Given the description of an element on the screen output the (x, y) to click on. 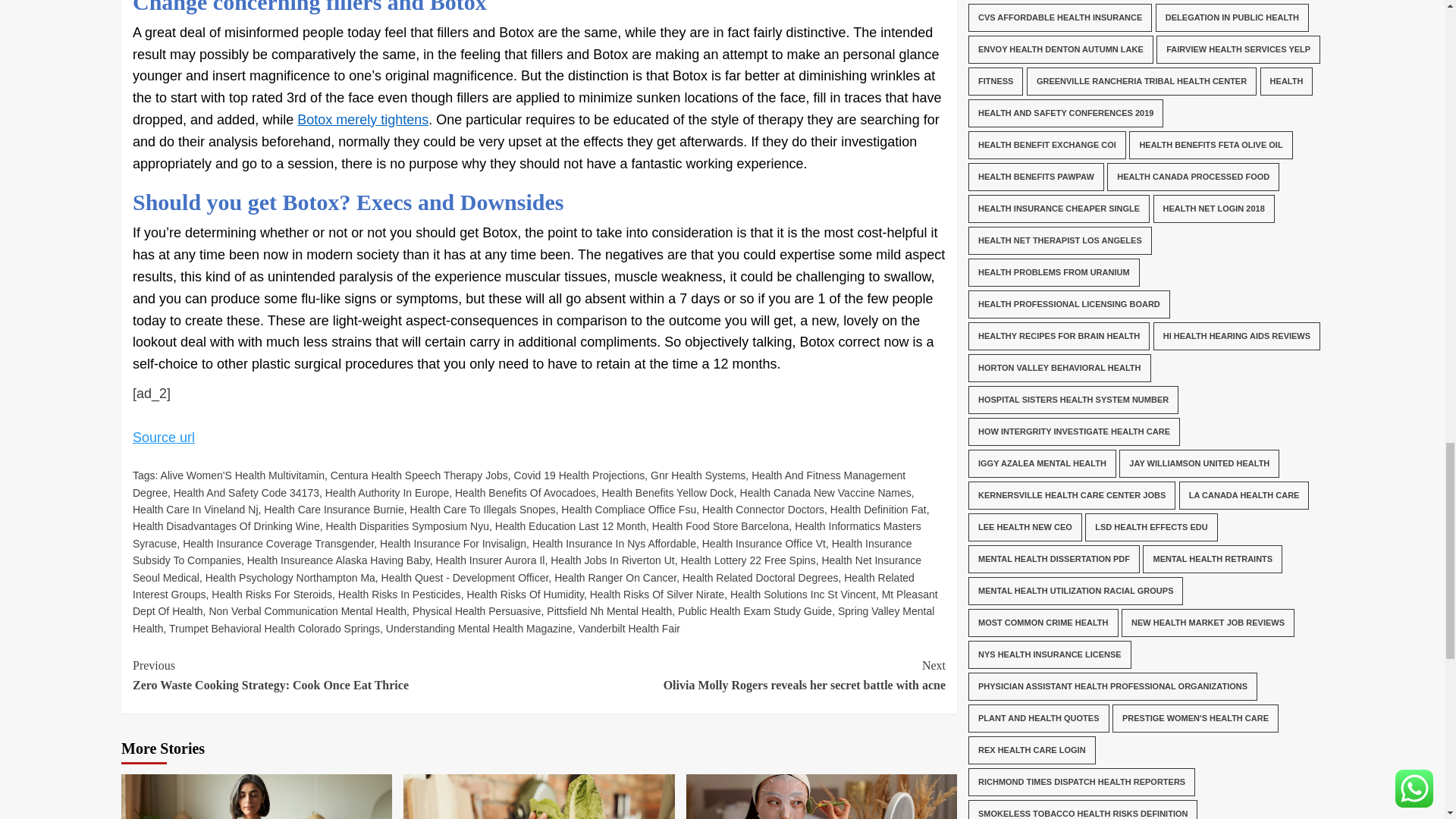
Does Alcachofa Really Help You Lose Weight? (538, 796)
Source url (163, 436)
Gnr Health Systems (697, 475)
How to Maintain Taut Skin Even After Weight Loss (820, 796)
Alive Women'S Health Multivitamin (242, 475)
Centura Health Speech Therapy Jobs (419, 475)
Health And Fitness Management Degree (518, 483)
Health And Safety Code 34173 (245, 492)
Botox merely tightens (362, 119)
Covid 19 Health Projections (579, 475)
